Given the description of an element on the screen output the (x, y) to click on. 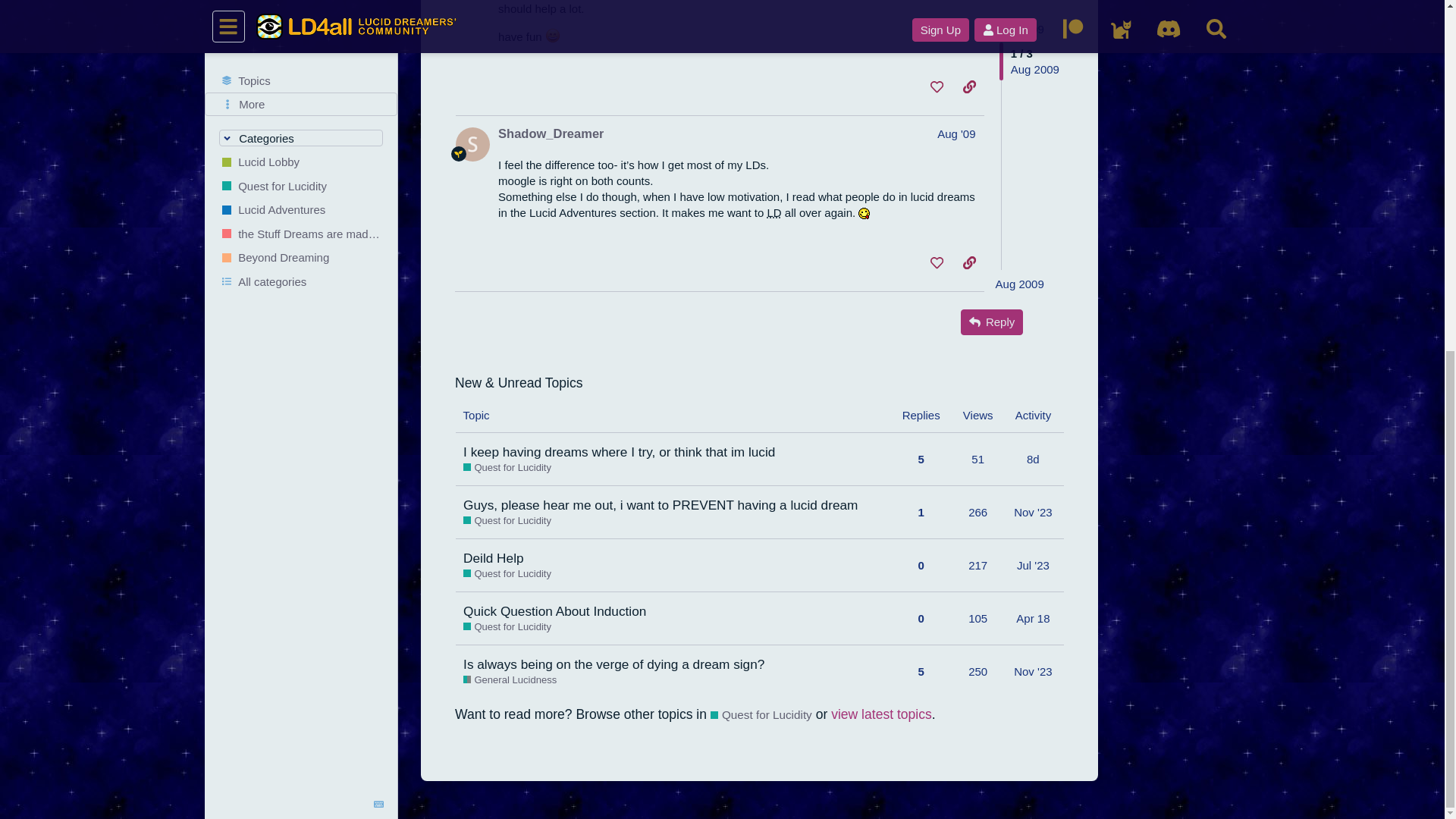
Keyboard Shortcuts (378, 195)
